Given the description of an element on the screen output the (x, y) to click on. 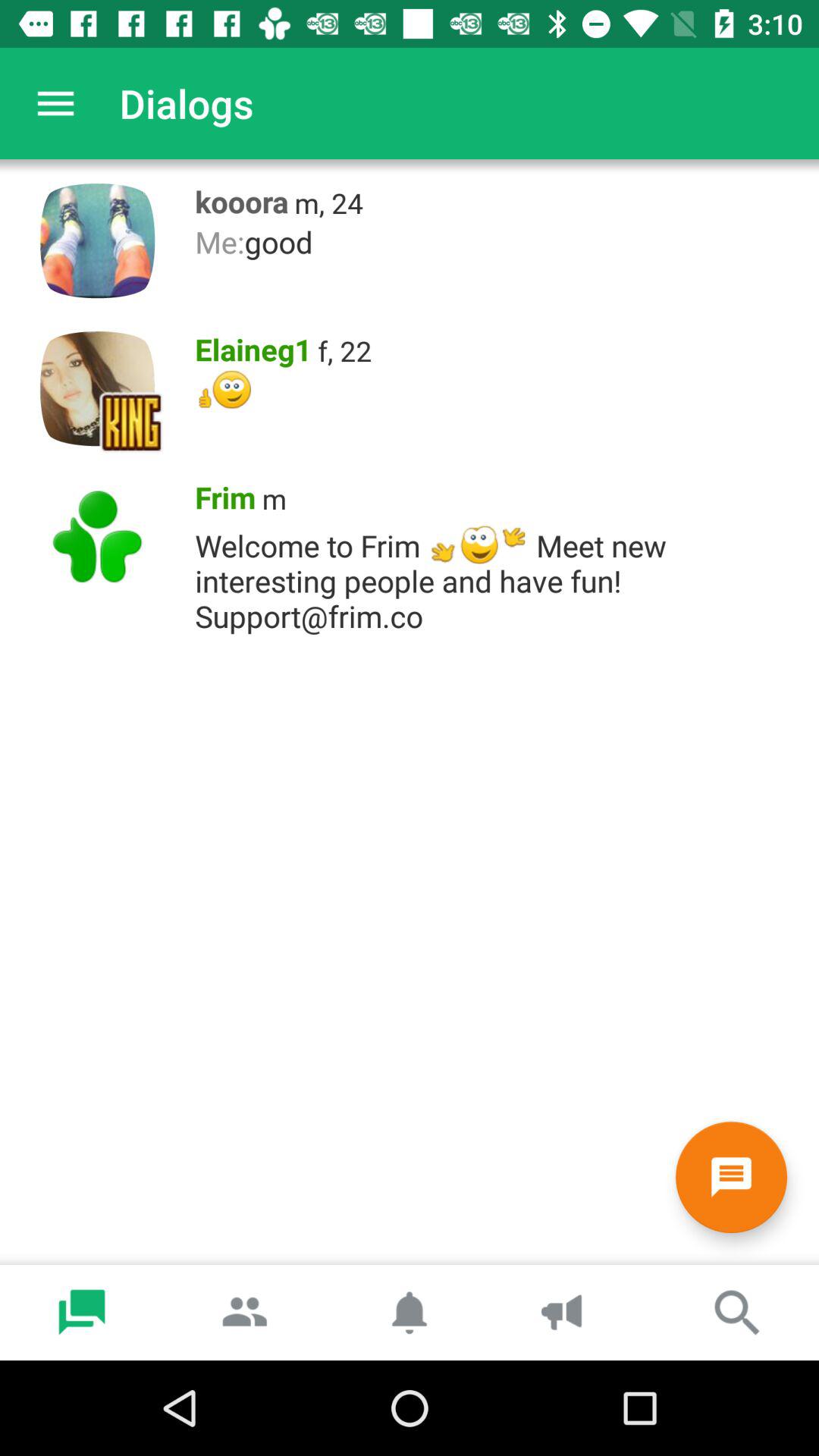
tap icon next to the elaineg1 icon (344, 350)
